Given the description of an element on the screen output the (x, y) to click on. 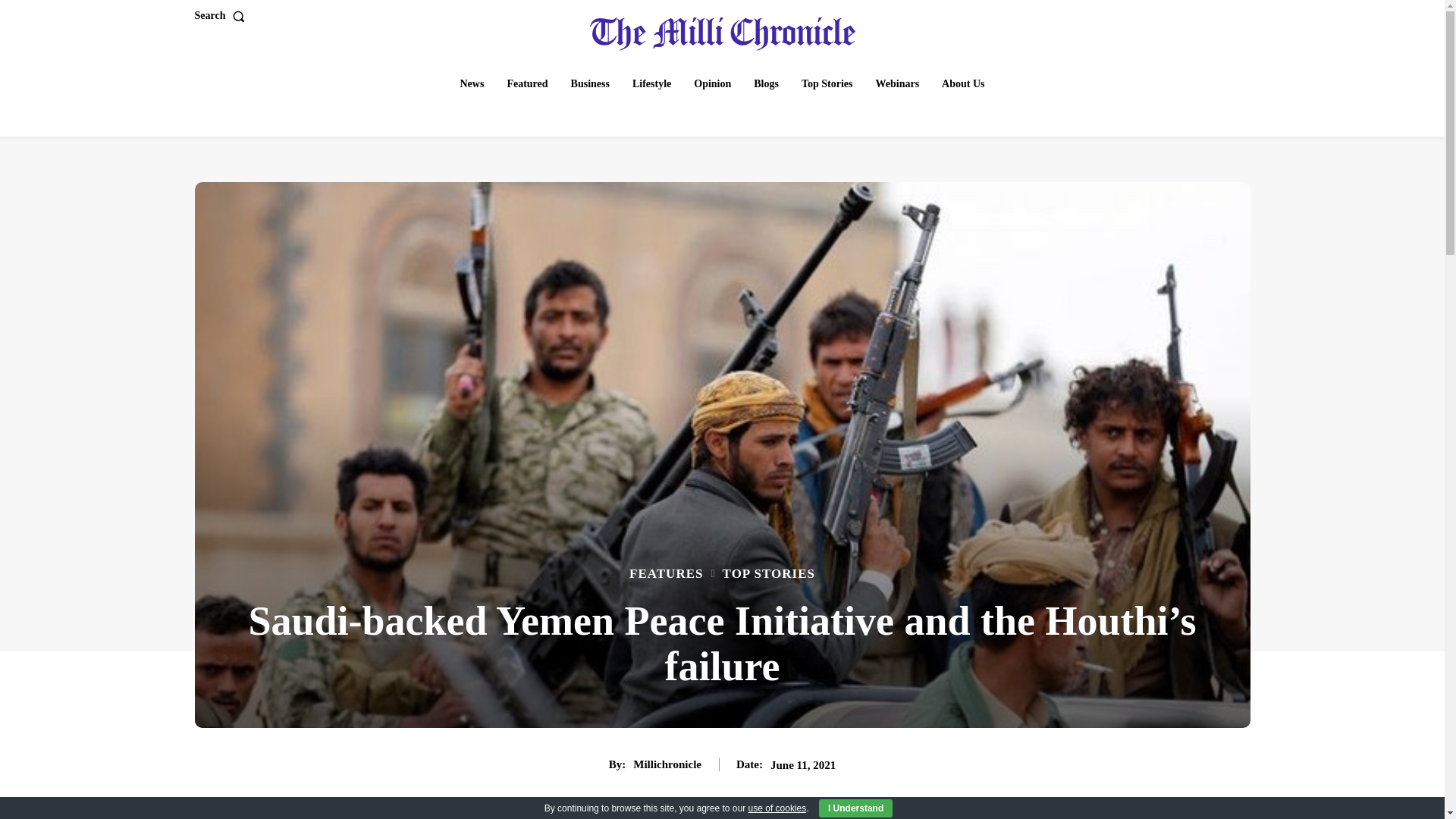
Featured (526, 83)
Lifestyle (651, 83)
Business (590, 83)
News (471, 83)
Search (221, 15)
